Given the description of an element on the screen output the (x, y) to click on. 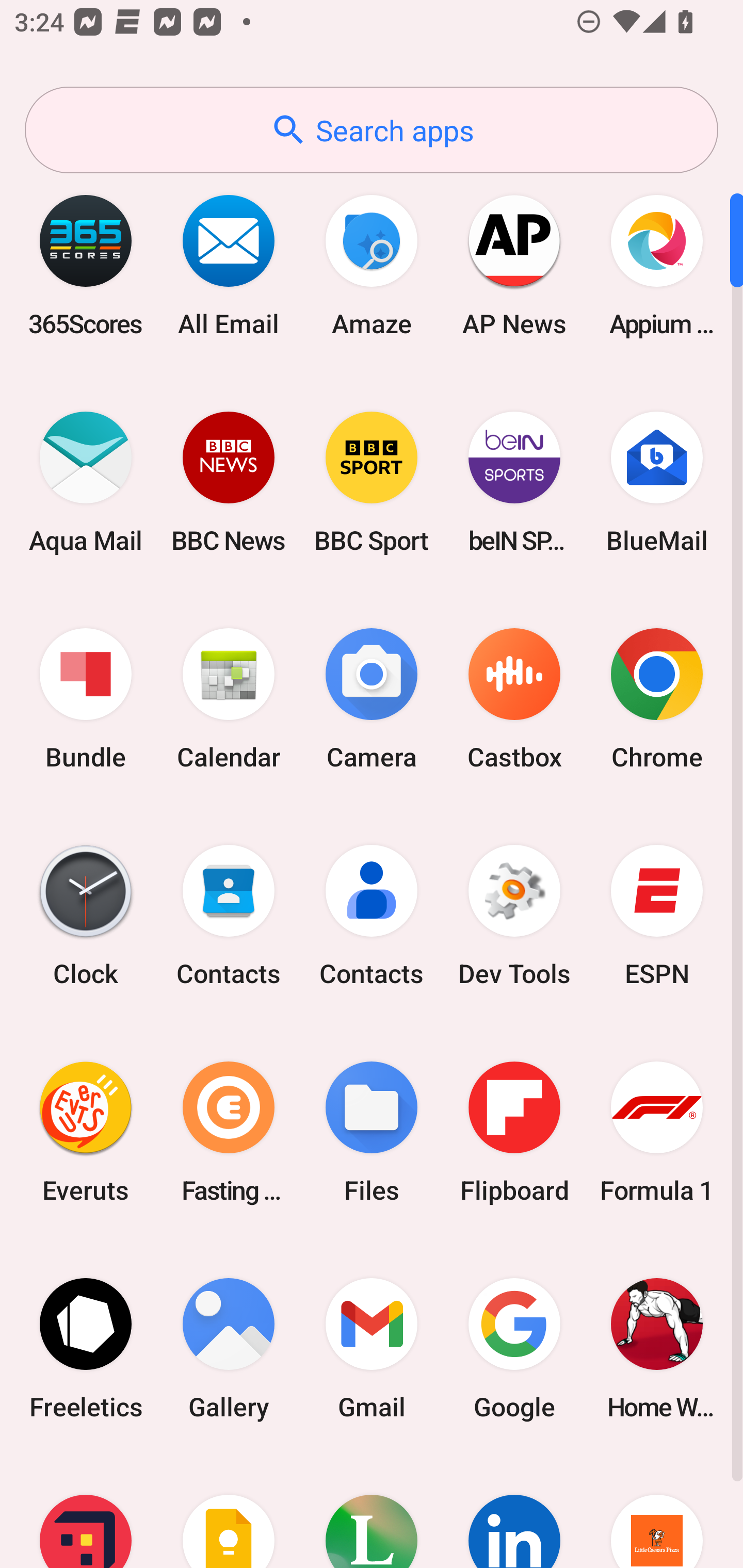
  Search apps (371, 130)
365Scores (85, 264)
All Email (228, 264)
Amaze (371, 264)
AP News (514, 264)
Appium Settings (656, 264)
Aqua Mail (85, 482)
BBC News (228, 482)
BBC Sport (371, 482)
beIN SPORTS (514, 482)
BlueMail (656, 482)
Bundle (85, 699)
Calendar (228, 699)
Camera (371, 699)
Castbox (514, 699)
Chrome (656, 699)
Clock (85, 915)
Contacts (228, 915)
Contacts (371, 915)
Dev Tools (514, 915)
ESPN (656, 915)
Everuts (85, 1131)
Fasting Coach (228, 1131)
Files (371, 1131)
Flipboard (514, 1131)
Formula 1 (656, 1131)
Freeletics (85, 1348)
Gallery (228, 1348)
Gmail (371, 1348)
Google (514, 1348)
Home Workout (656, 1348)
Hotels.com (85, 1512)
Keep Notes (228, 1512)
Lifesum (371, 1512)
LinkedIn (514, 1512)
Little Caesars Pizza (656, 1512)
